Given the description of an element on the screen output the (x, y) to click on. 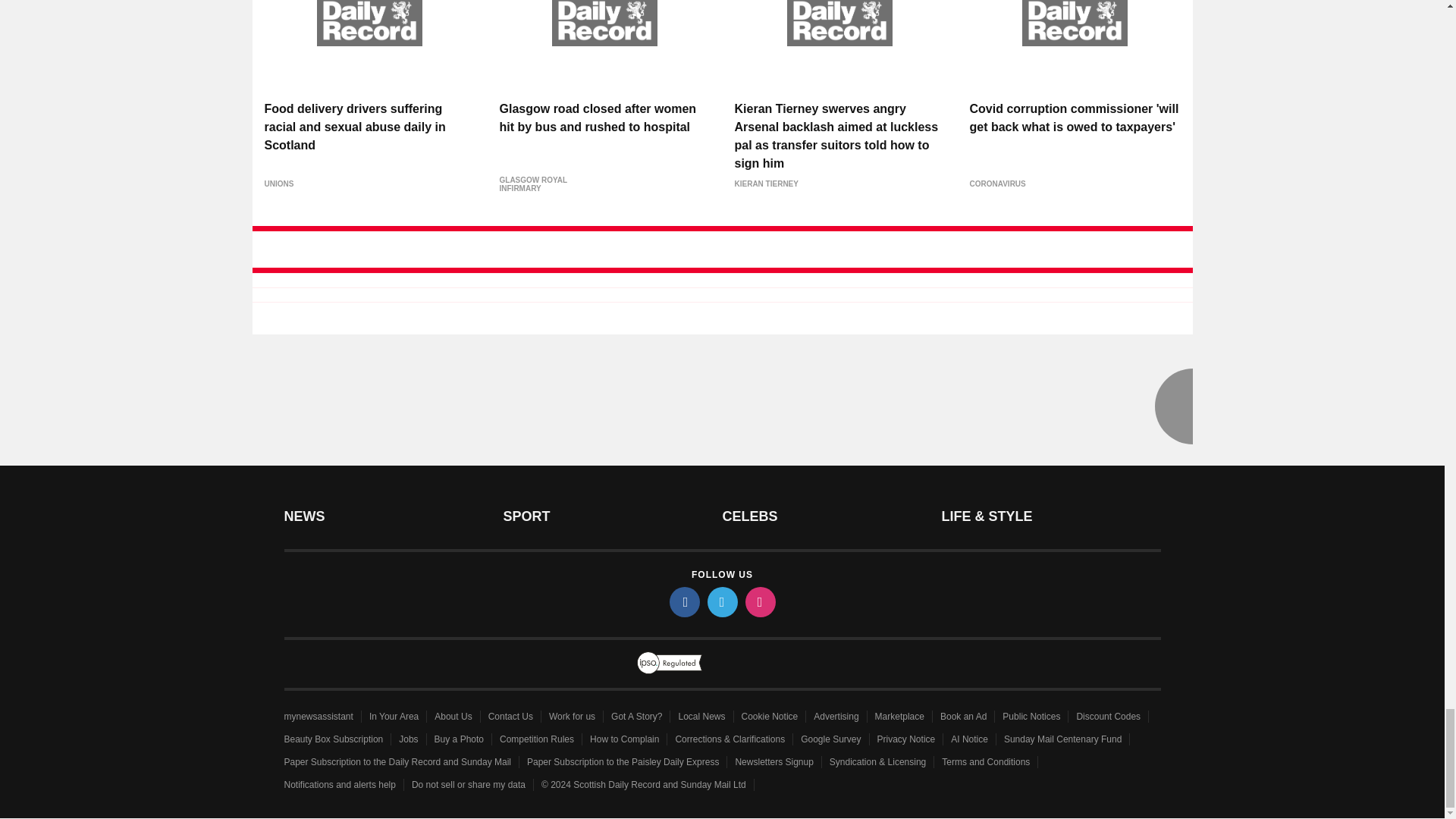
facebook (683, 602)
twitter (721, 602)
instagram (759, 602)
